Given the description of an element on the screen output the (x, y) to click on. 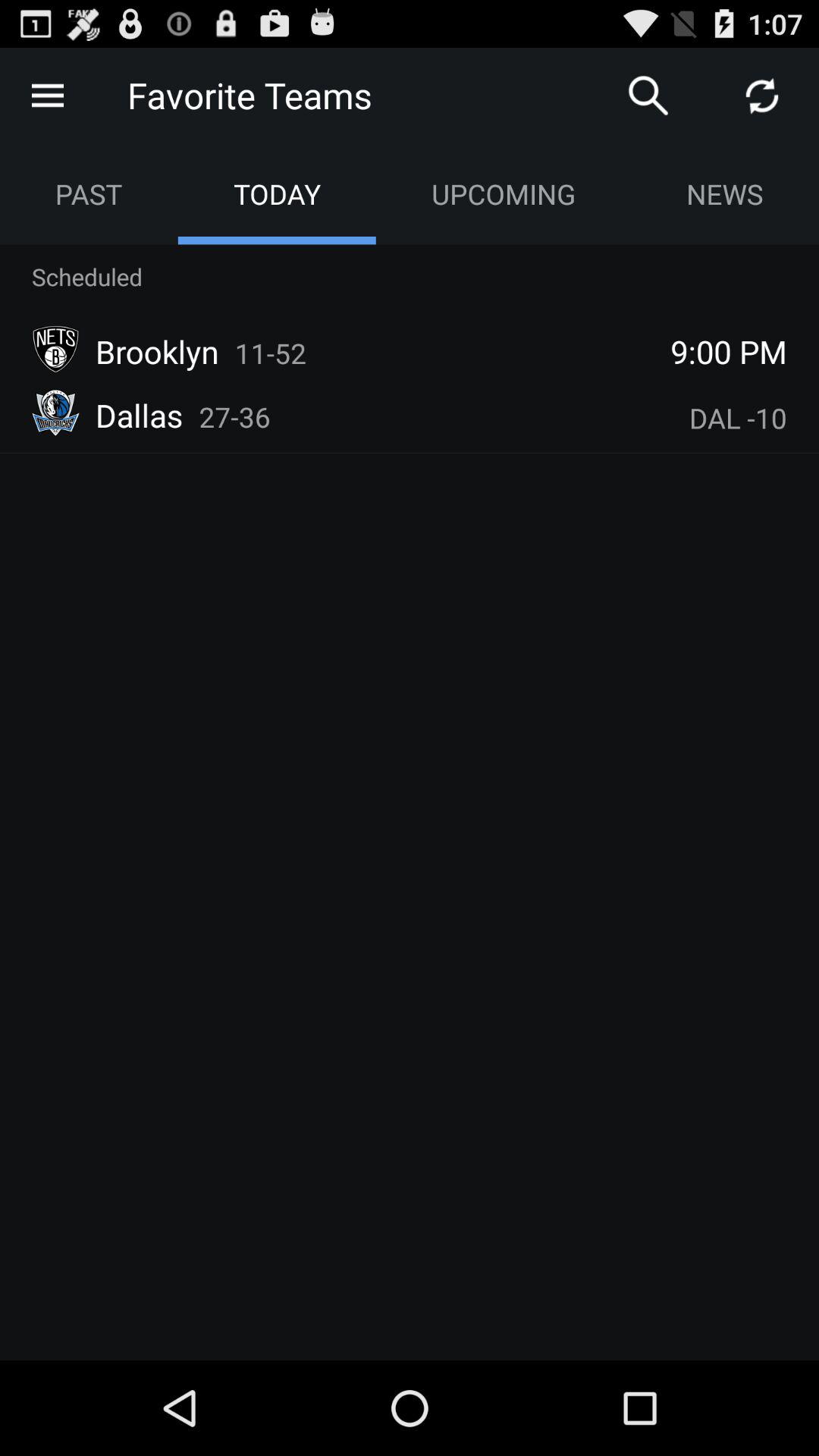
click app next to the dal -10 app (234, 416)
